Given the description of an element on the screen output the (x, y) to click on. 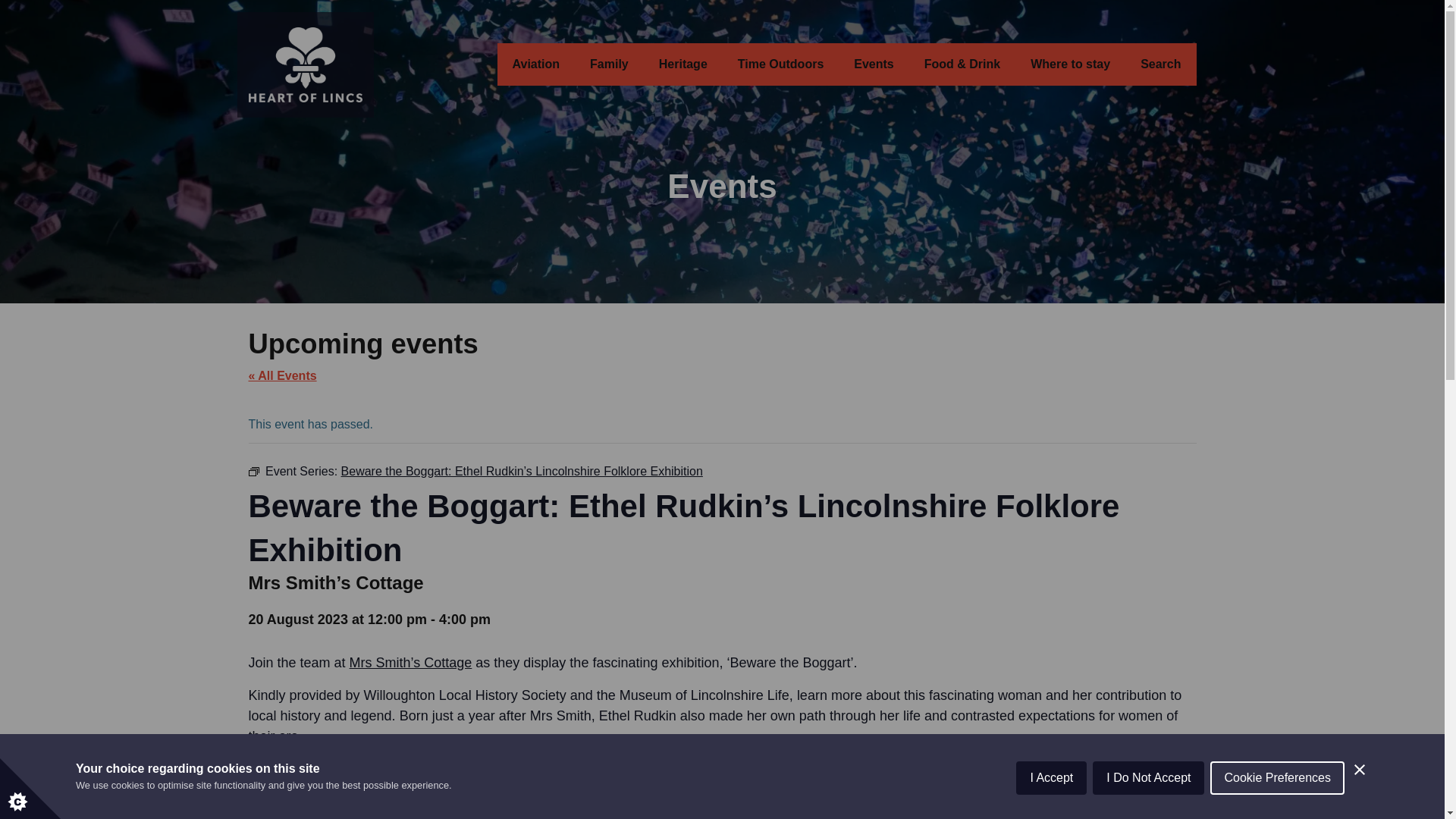
Heritage (682, 64)
Family (609, 64)
I Do Not Accept (1148, 802)
Heritage (682, 64)
Events (873, 64)
Aviation (536, 64)
Time Outdoors (781, 64)
Search (1160, 64)
Where to stay (1069, 64)
Cookie Preferences (1276, 794)
Search (1160, 64)
I Accept (1051, 808)
Events (873, 64)
Family (609, 64)
Event Series (253, 470)
